Given the description of an element on the screen output the (x, y) to click on. 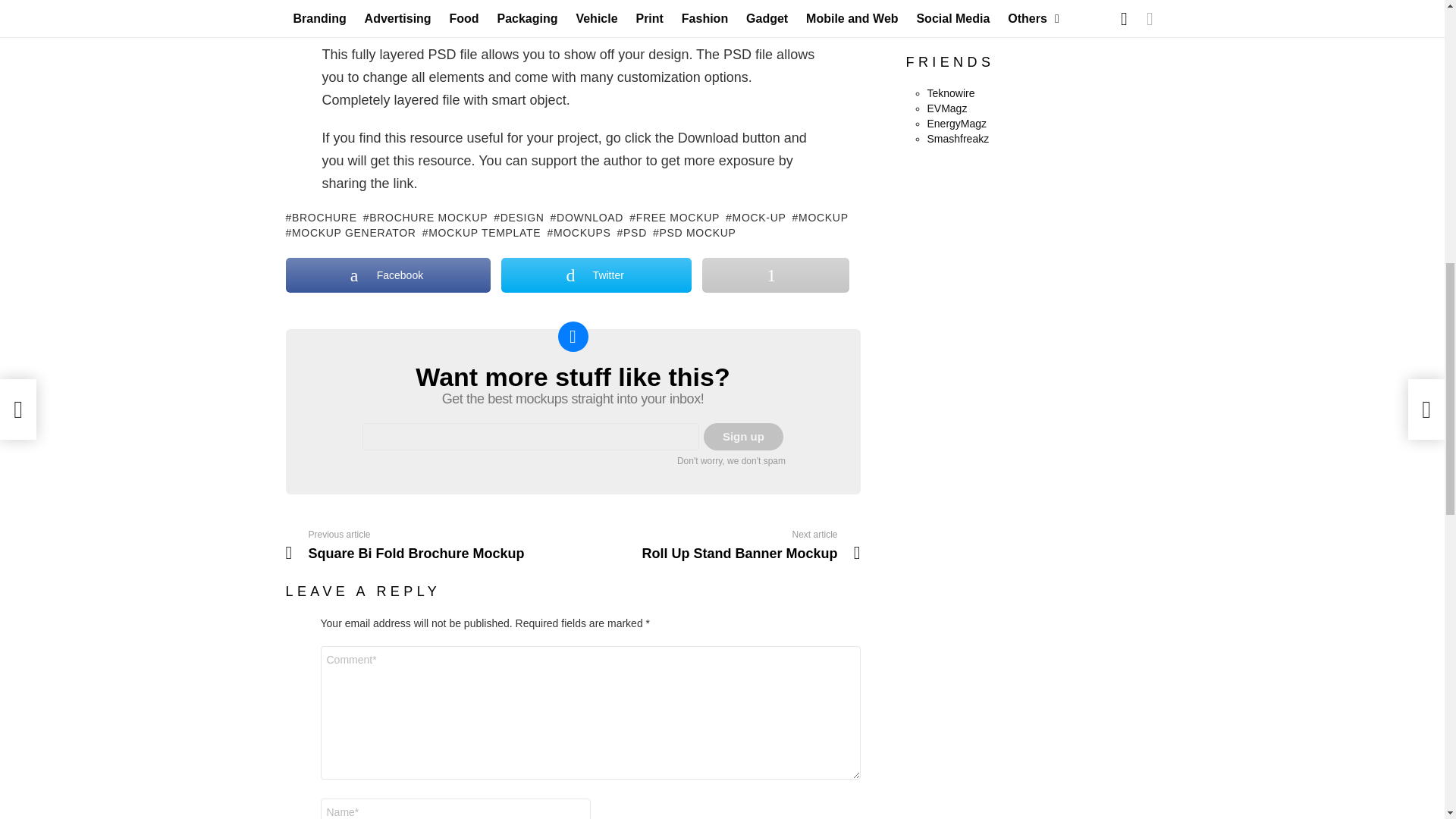
FREE MOCKUP (673, 217)
BROCHURE (320, 217)
MOCK-UP (755, 217)
MOCKUP (820, 217)
Share on Facebook (387, 274)
Share on More Button (774, 274)
Sign up (743, 436)
MOCKUP GENERATOR (349, 232)
DESIGN (518, 217)
BROCHURE MOCKUP (424, 217)
Share on Twitter (595, 274)
DOWNLOAD (587, 217)
